Given the description of an element on the screen output the (x, y) to click on. 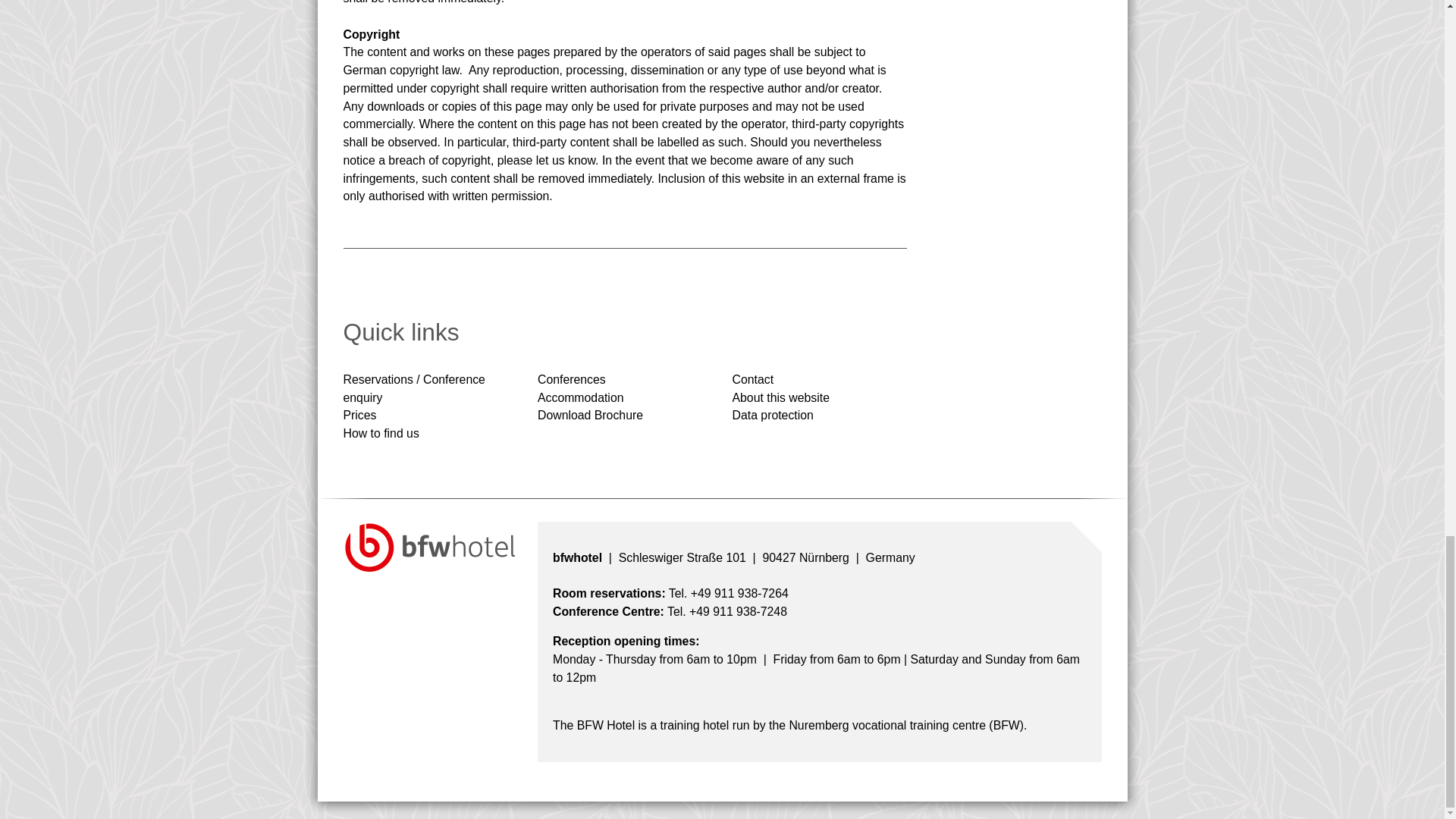
Accommodation (580, 397)
Contact (753, 379)
Data protection (772, 414)
Link to How to find us page (380, 432)
Link to Conference Centre page (571, 379)
Conferences (571, 379)
Link to Guest House (580, 397)
Link to Contact page (753, 379)
Link to Reservation and Conference enquiry page (413, 388)
Download Brochure (590, 414)
Link to BFW Hotel Nuremberg rates (358, 414)
Download hotel brochure (590, 414)
How to find us (380, 432)
Prices (358, 414)
About this website (780, 397)
